Given the description of an element on the screen output the (x, y) to click on. 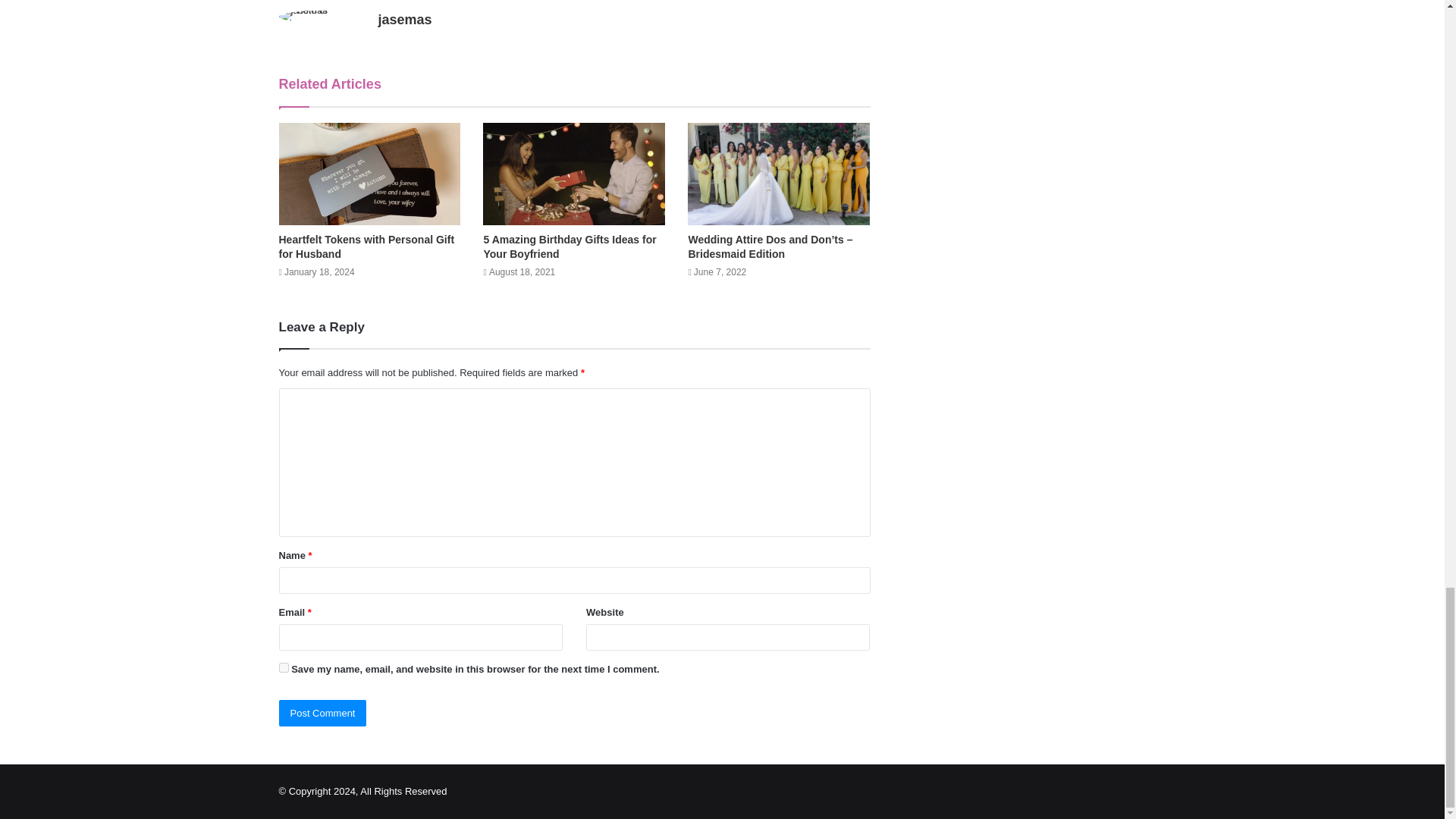
Post Comment (322, 713)
Heartfelt Tokens with Personal Gift for Husband (366, 246)
jasemas (403, 19)
yes (283, 667)
